Given the description of an element on the screen output the (x, y) to click on. 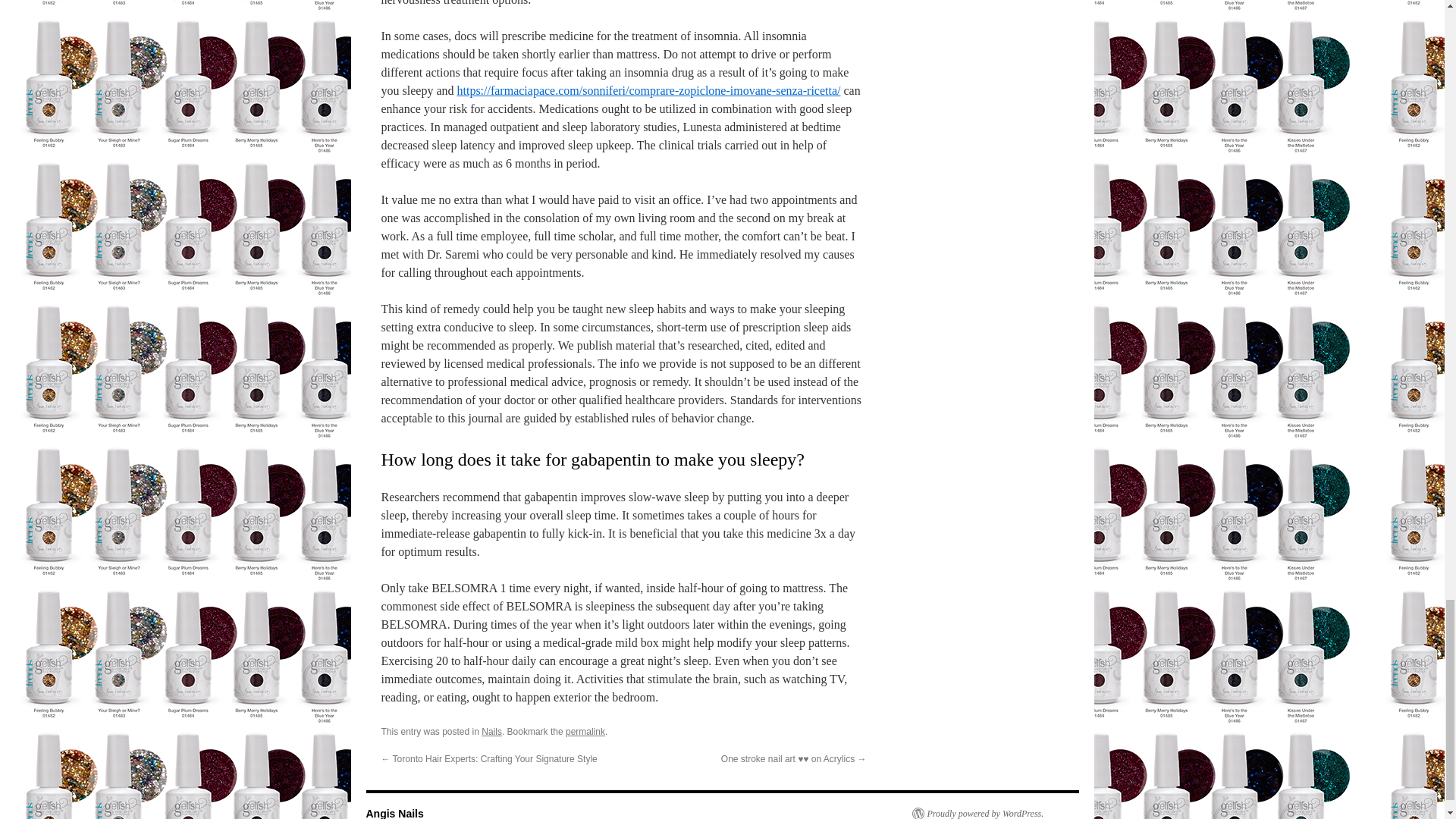
Nails (491, 731)
permalink (585, 731)
Permalink to World Sleep Day March 18, 2022 (585, 731)
